Given the description of an element on the screen output the (x, y) to click on. 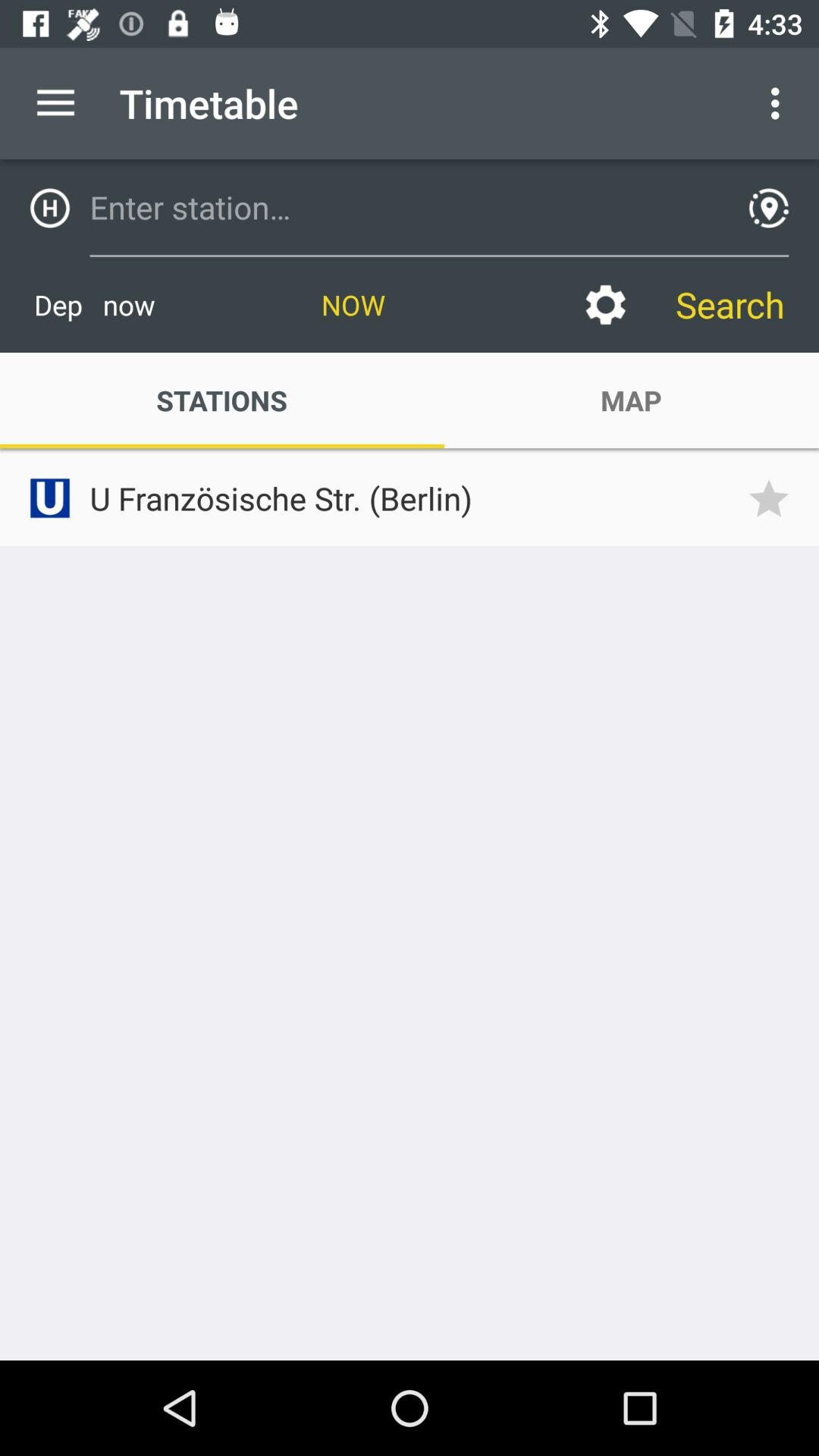
jump until map item (631, 400)
